Given the description of an element on the screen output the (x, y) to click on. 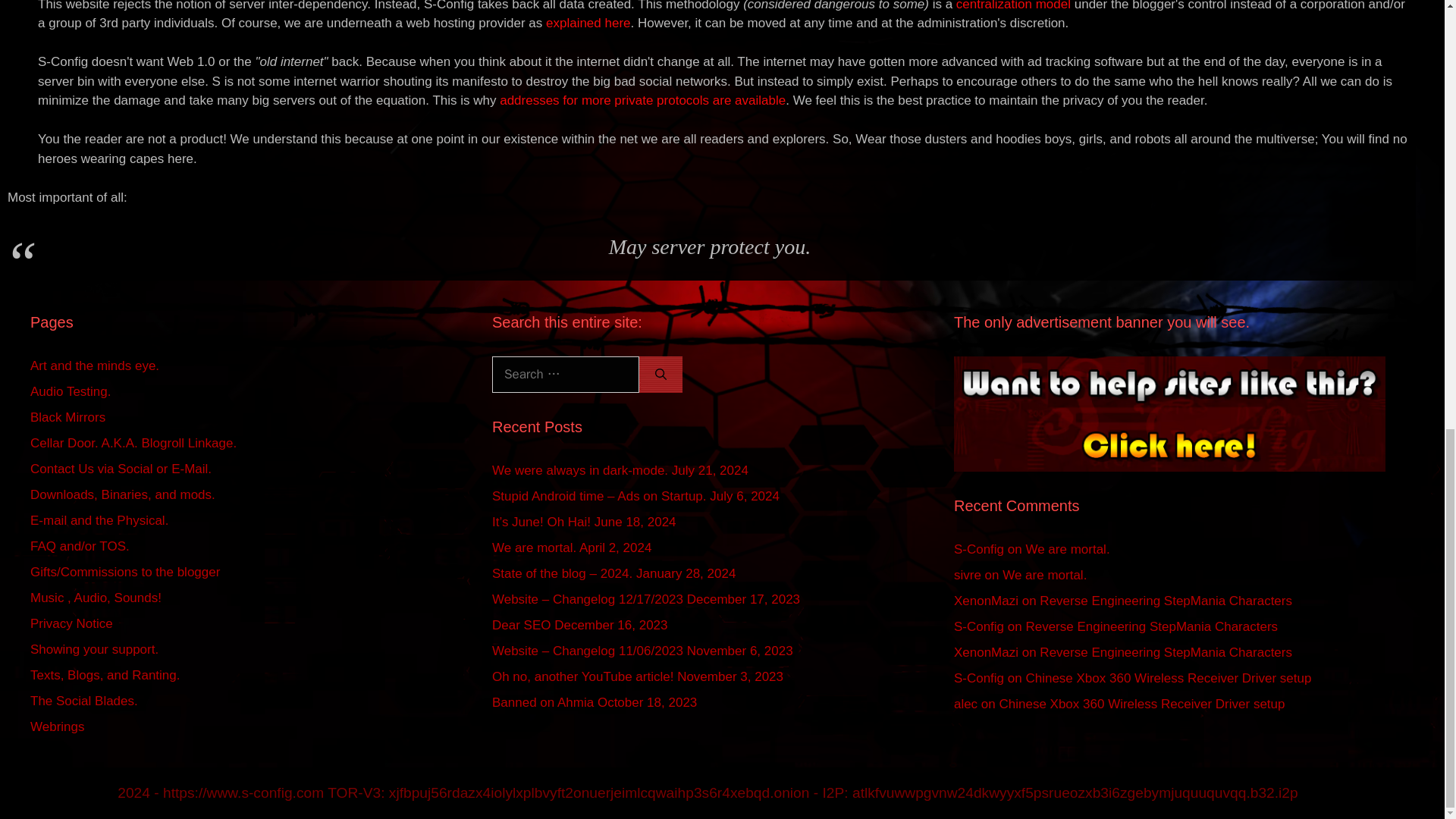
explained here (588, 22)
Search for: (565, 374)
centralization model (1013, 5)
addresses for more private protocols are available (642, 100)
